Given the description of an element on the screen output the (x, y) to click on. 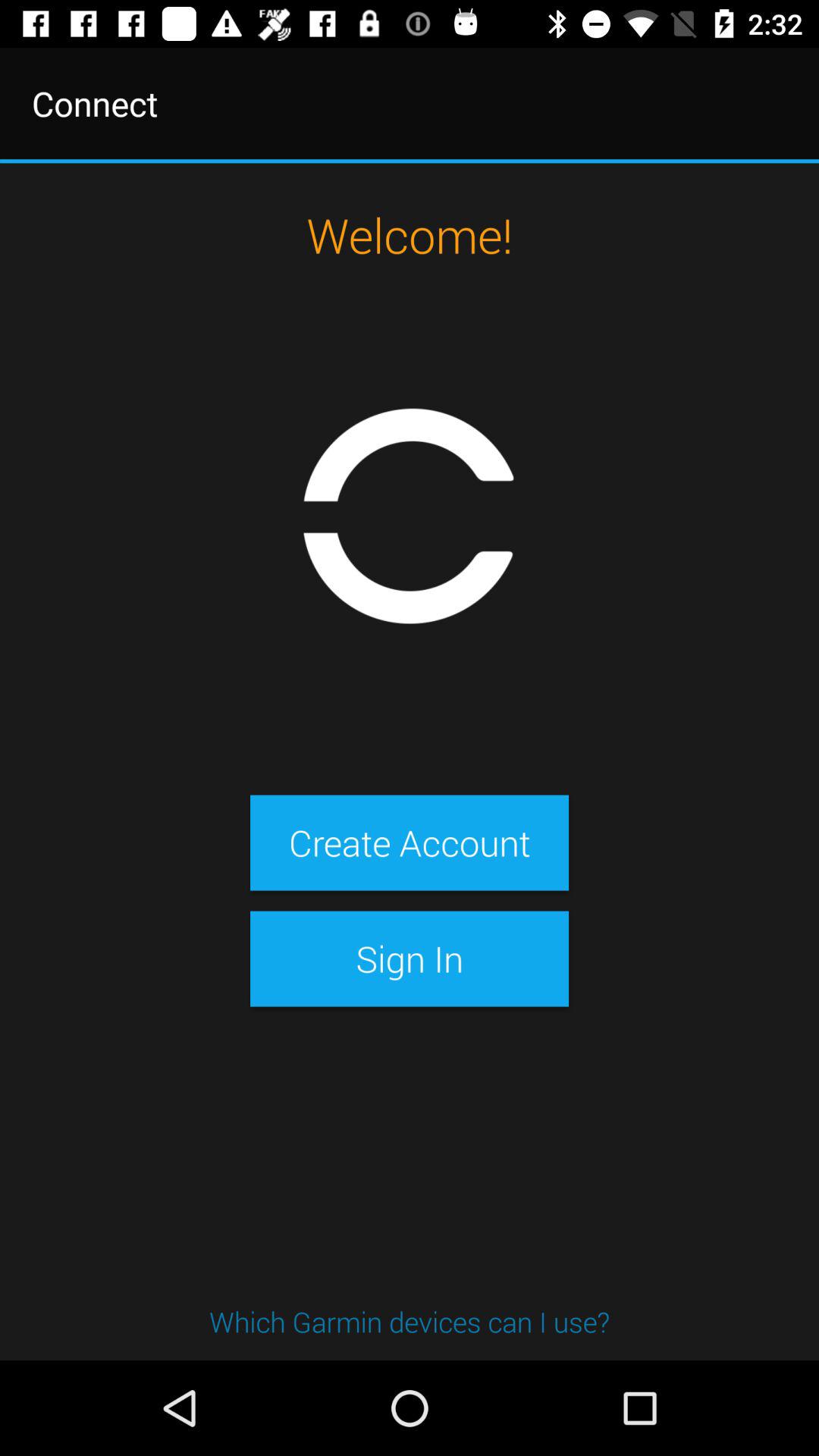
press icon below the sign in item (409, 1321)
